Given the description of an element on the screen output the (x, y) to click on. 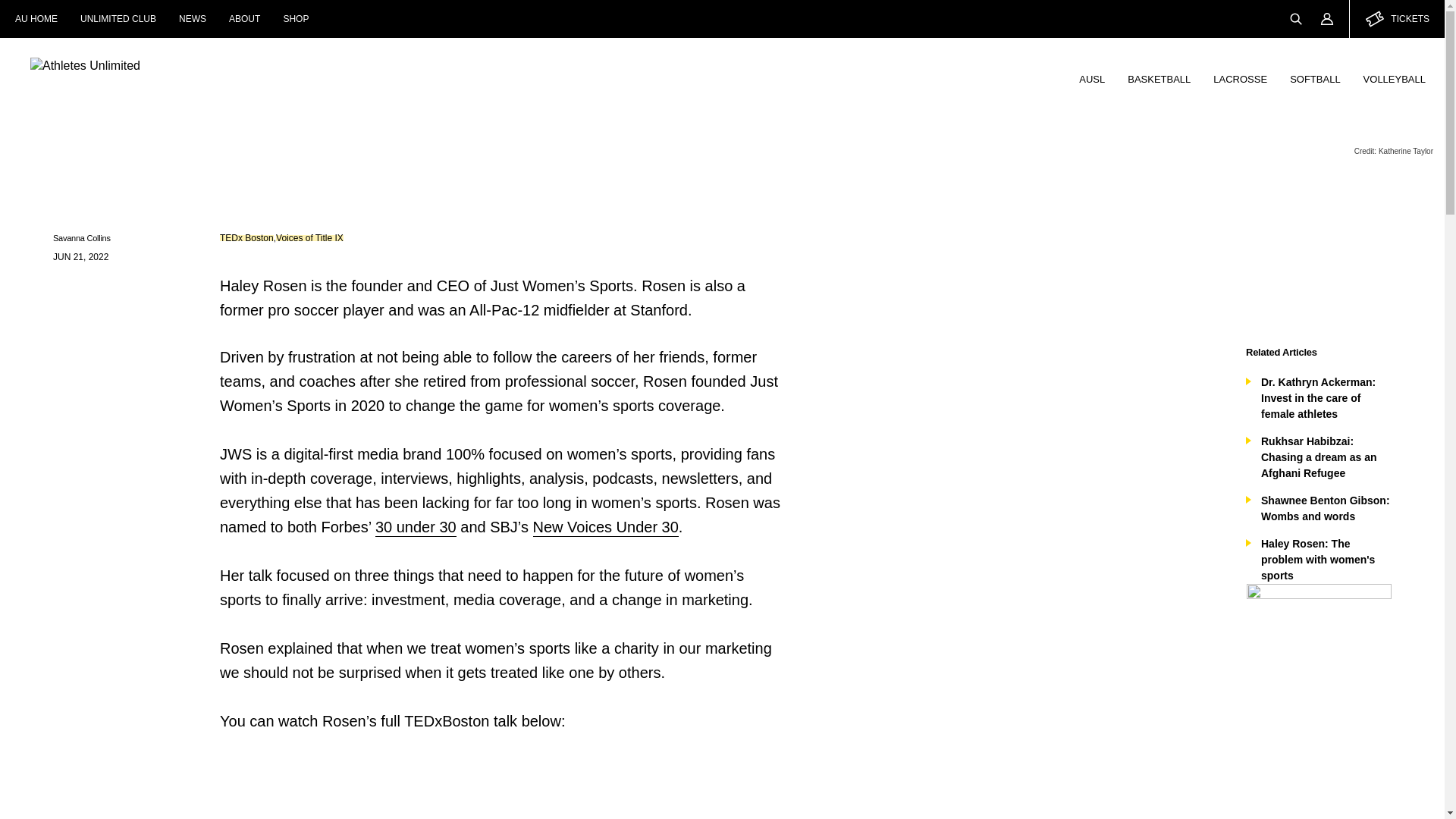
AU HOME (36, 18)
SHOP (295, 18)
LACROSSE (1240, 79)
NEWS (191, 18)
BASKETBALL (1159, 79)
ABOUT (243, 18)
AUSL (1091, 79)
UNLIMITED CLUB (117, 18)
